Given the description of an element on the screen output the (x, y) to click on. 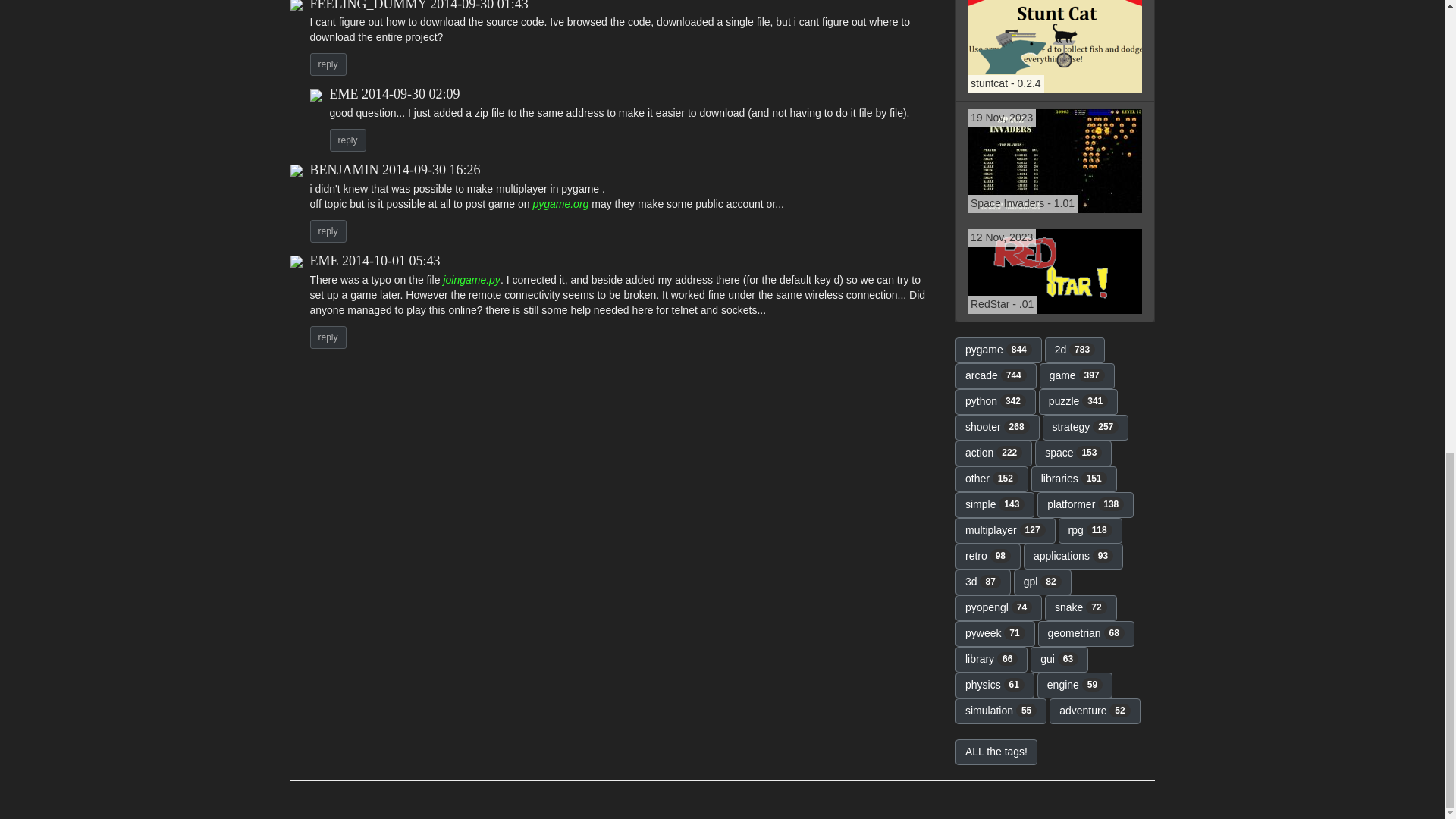
a shmup survivor like game (1054, 271)
reply (327, 64)
